Given the description of an element on the screen output the (x, y) to click on. 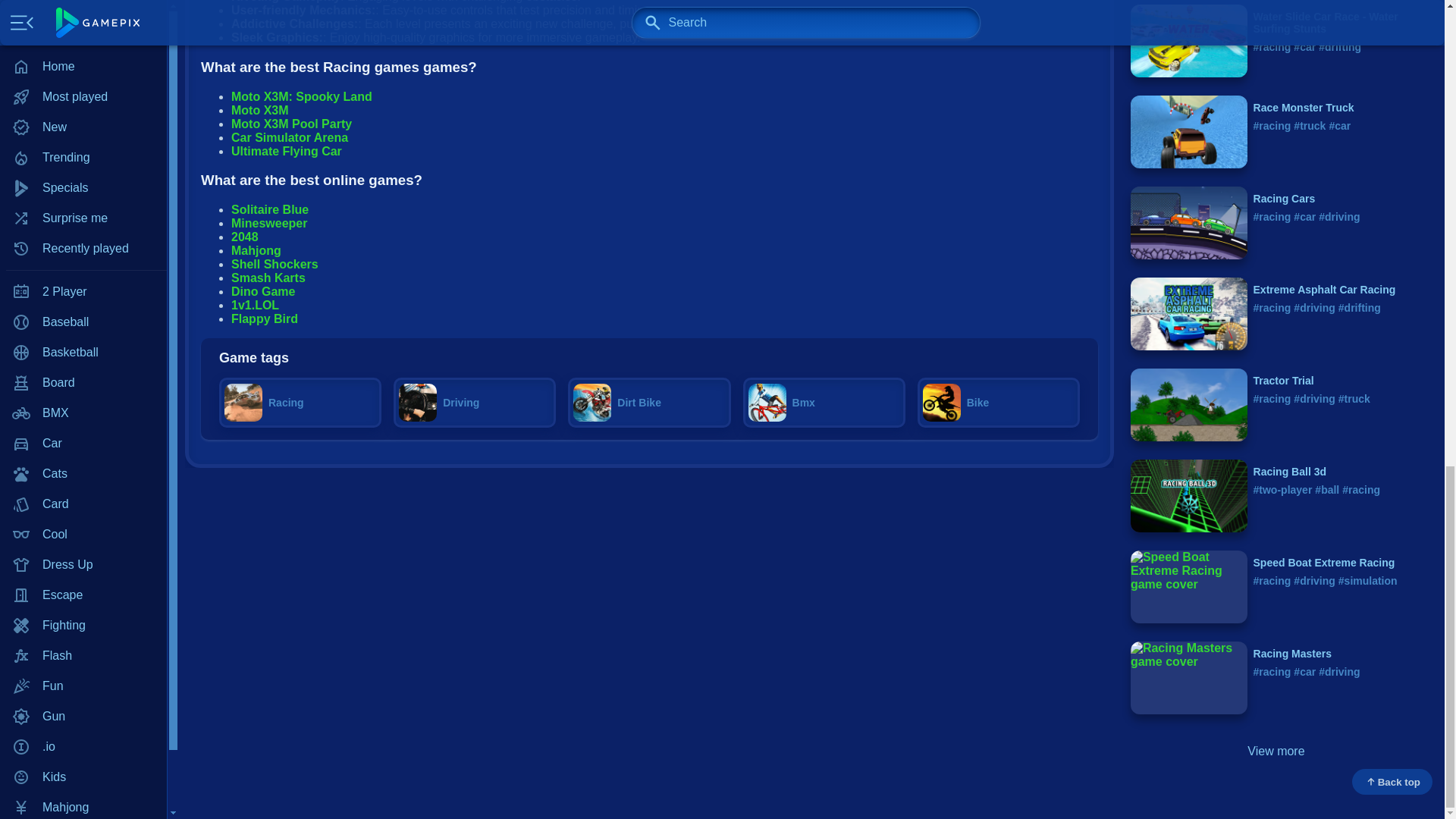
Zombie (83, 110)
Word (83, 79)
Soccer (83, 19)
Snake (83, 2)
War (83, 49)
